Given the description of an element on the screen output the (x, y) to click on. 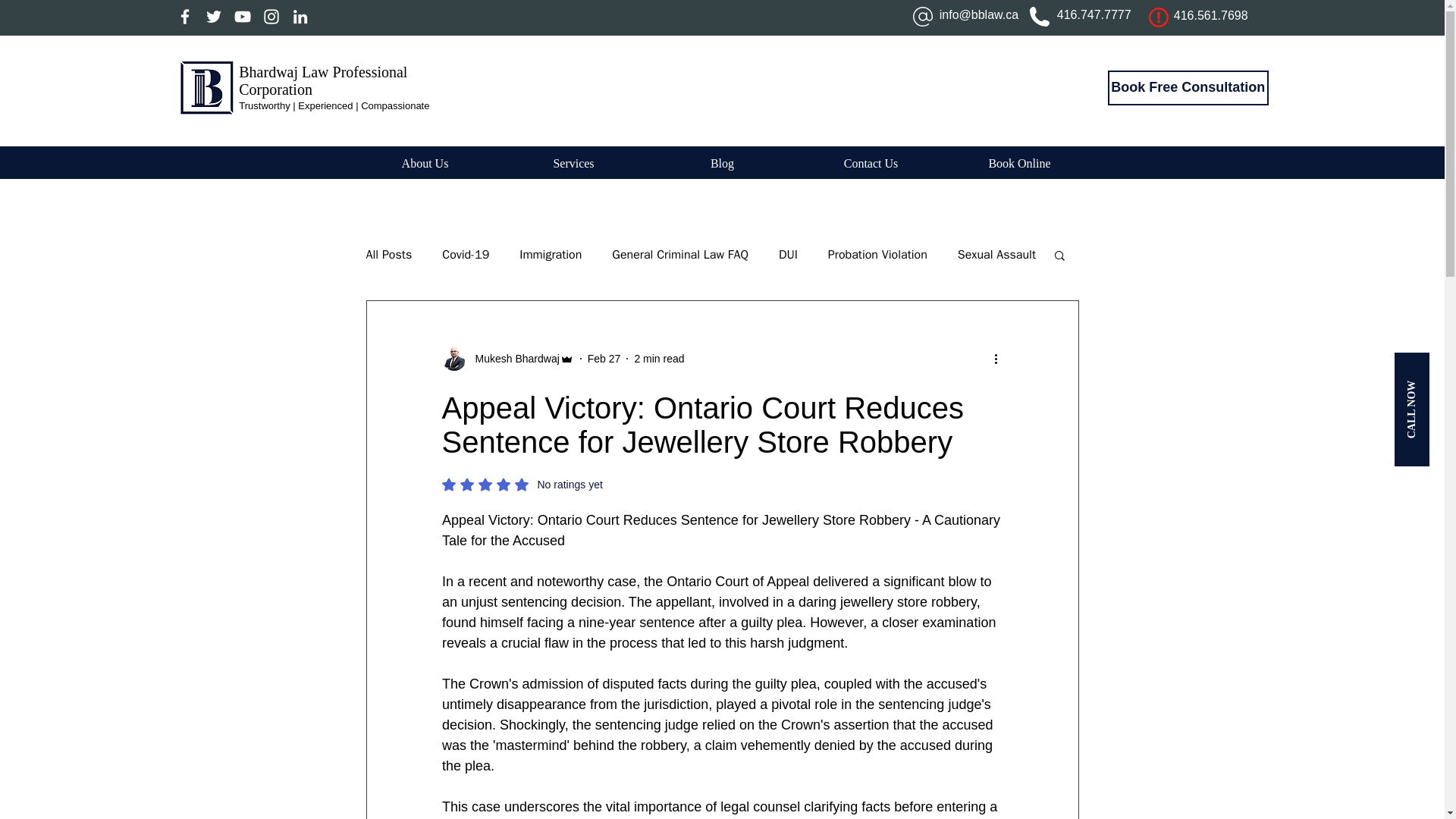
About Us (424, 163)
Feb 27 (604, 357)
Mukesh Bhardwaj (512, 358)
Bhardwaj Law Professional Corporation (322, 80)
Blog (721, 163)
Immigration (549, 254)
All Posts (388, 254)
Sexual Assault (996, 254)
DUI (787, 254)
Covid-19 (465, 254)
